Given the description of an element on the screen output the (x, y) to click on. 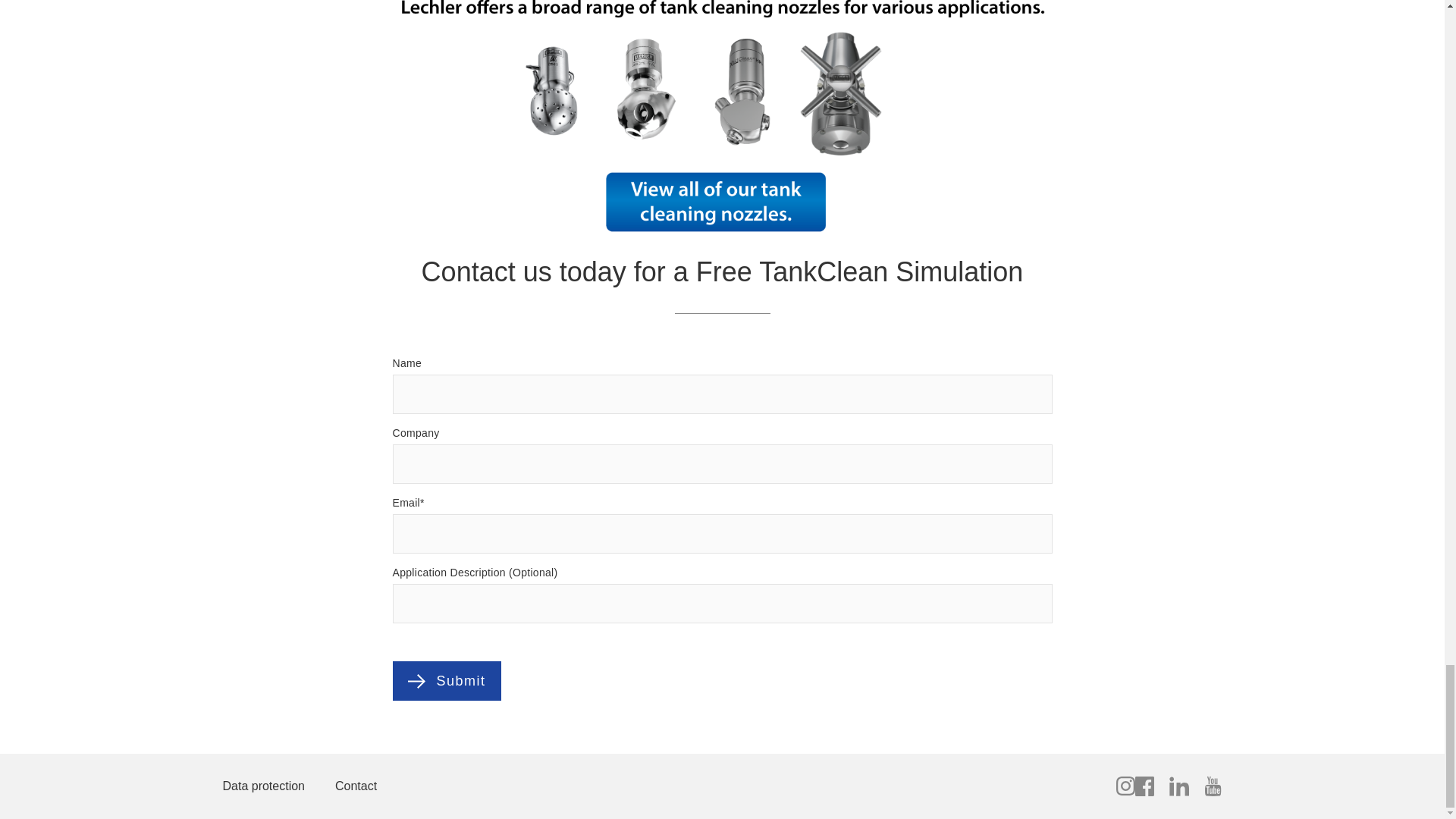
Submit (466, 680)
